Given the description of an element on the screen output the (x, y) to click on. 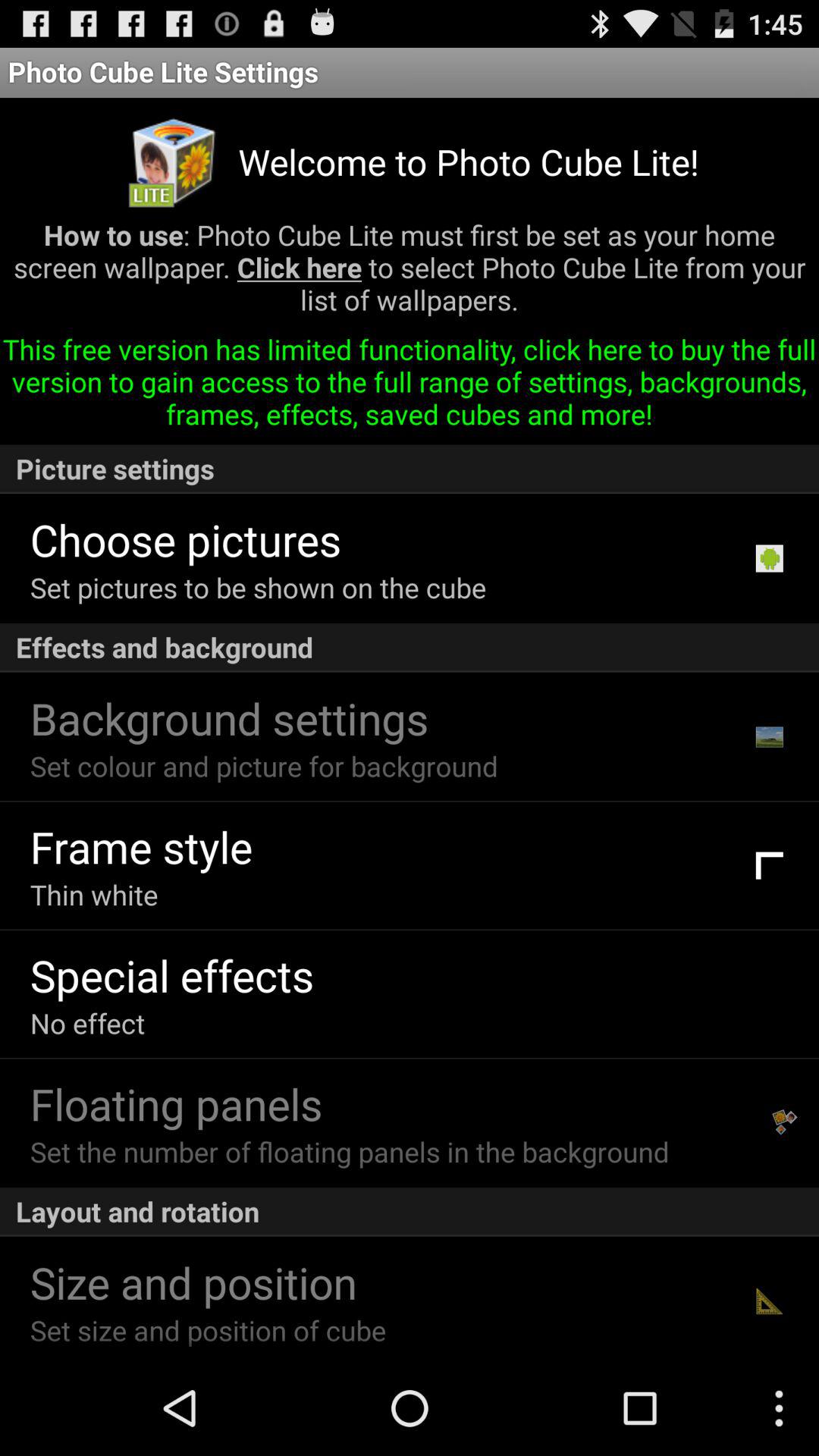
click app below the welcome to photo app (409, 273)
